Given the description of an element on the screen output the (x, y) to click on. 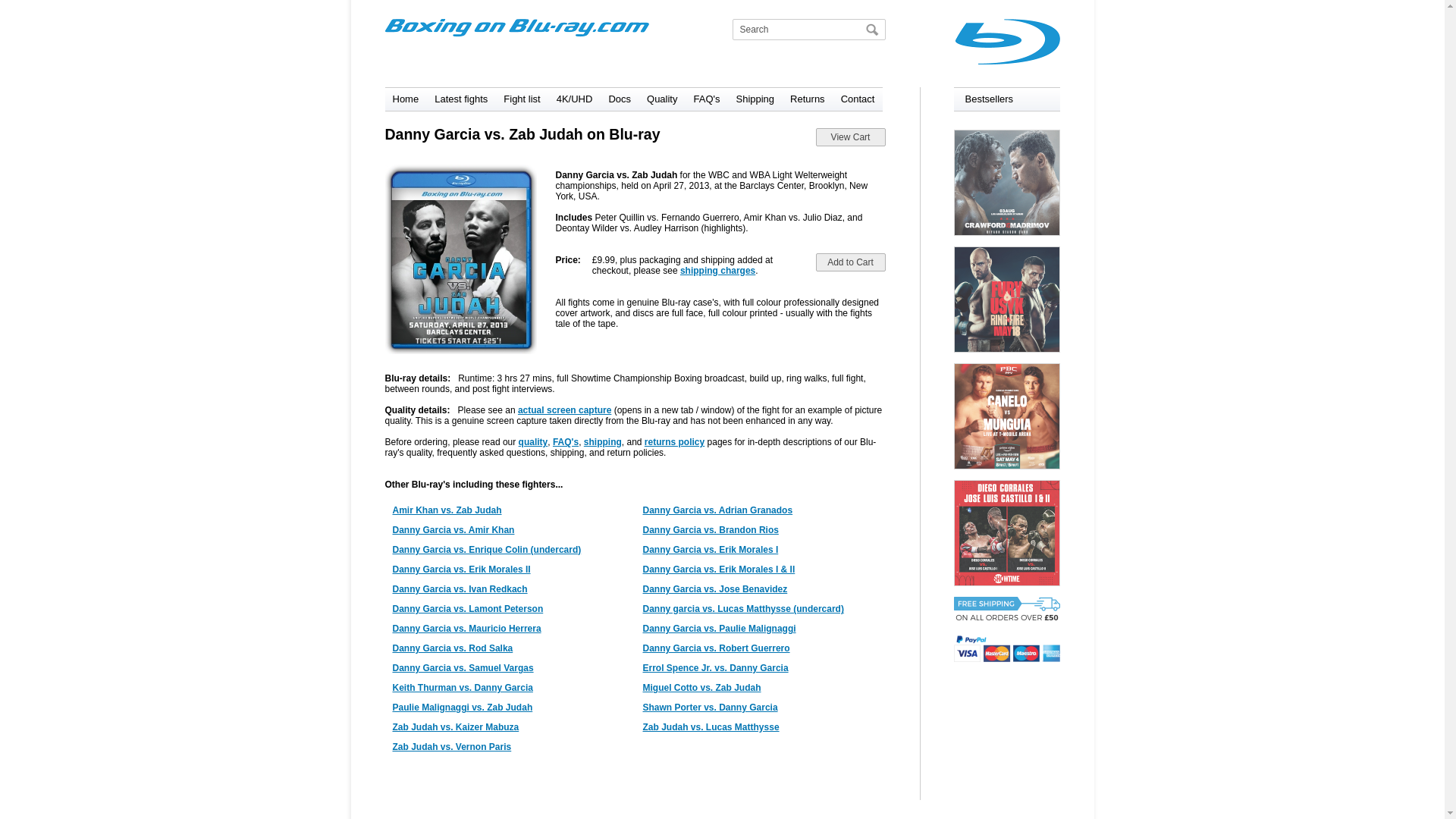
Amir Khan vs. Zab Judah (447, 510)
Danny Garcia vs. Adrian Granados (718, 510)
Home (406, 99)
View Cart (850, 136)
returns policy (674, 441)
quality (533, 441)
Errol Spence Jr. vs. Danny Garcia (716, 667)
Danny Garcia vs. Rod Salka (453, 647)
Saul Alvarez vs. Jaime Munguia Amazon Blu-ray (1006, 416)
shipping (602, 441)
